Given the description of an element on the screen output the (x, y) to click on. 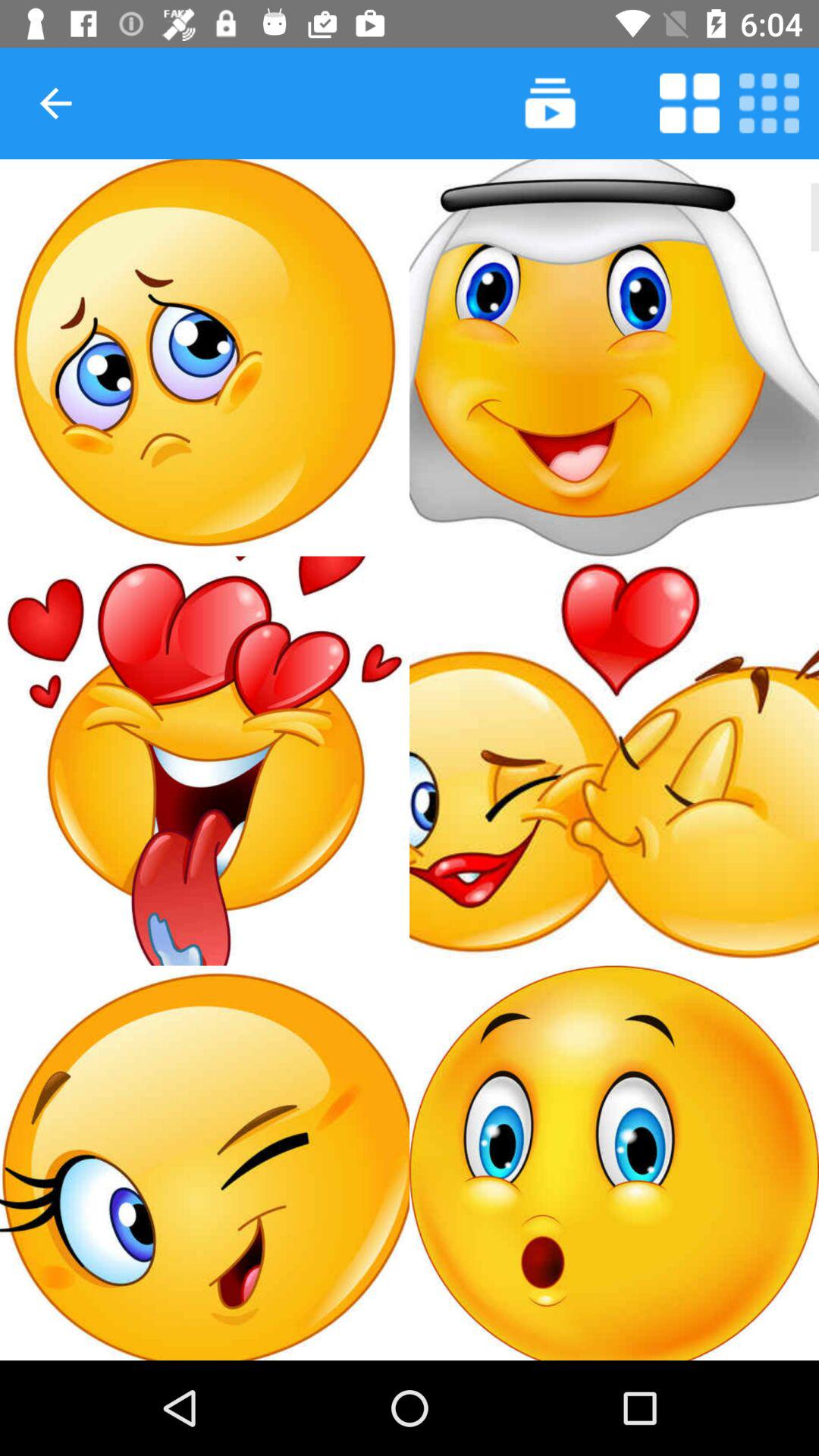
show four squares per page (689, 103)
